Given the description of an element on the screen output the (x, y) to click on. 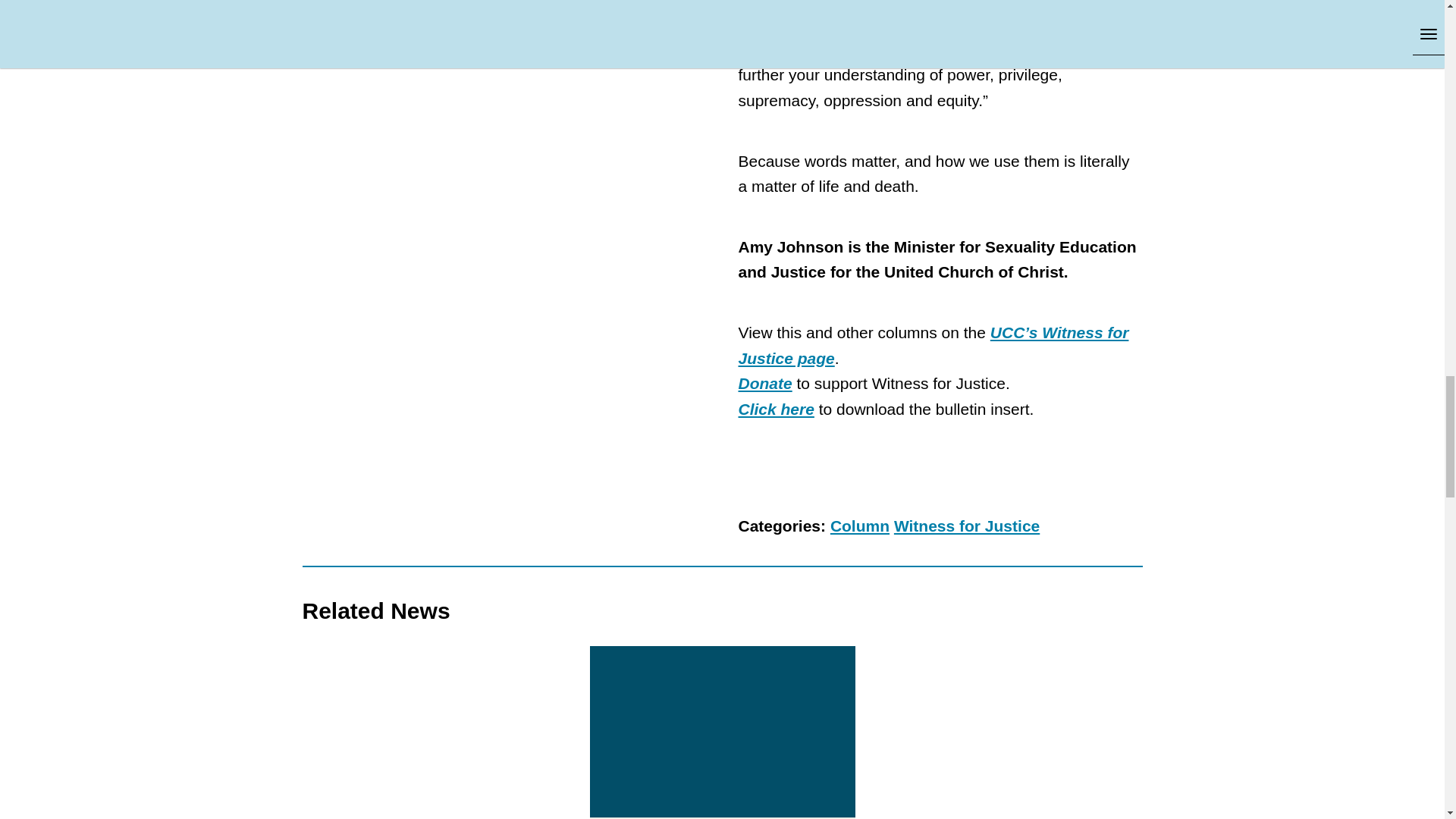
Witness for Justice (933, 344)
Commentary: Words (775, 408)
A Call to Protect Indigenous Peoples (722, 731)
21-Day Racial Equity Habit Building Challenge (933, 36)
Donate (765, 383)
